Given the description of an element on the screen output the (x, y) to click on. 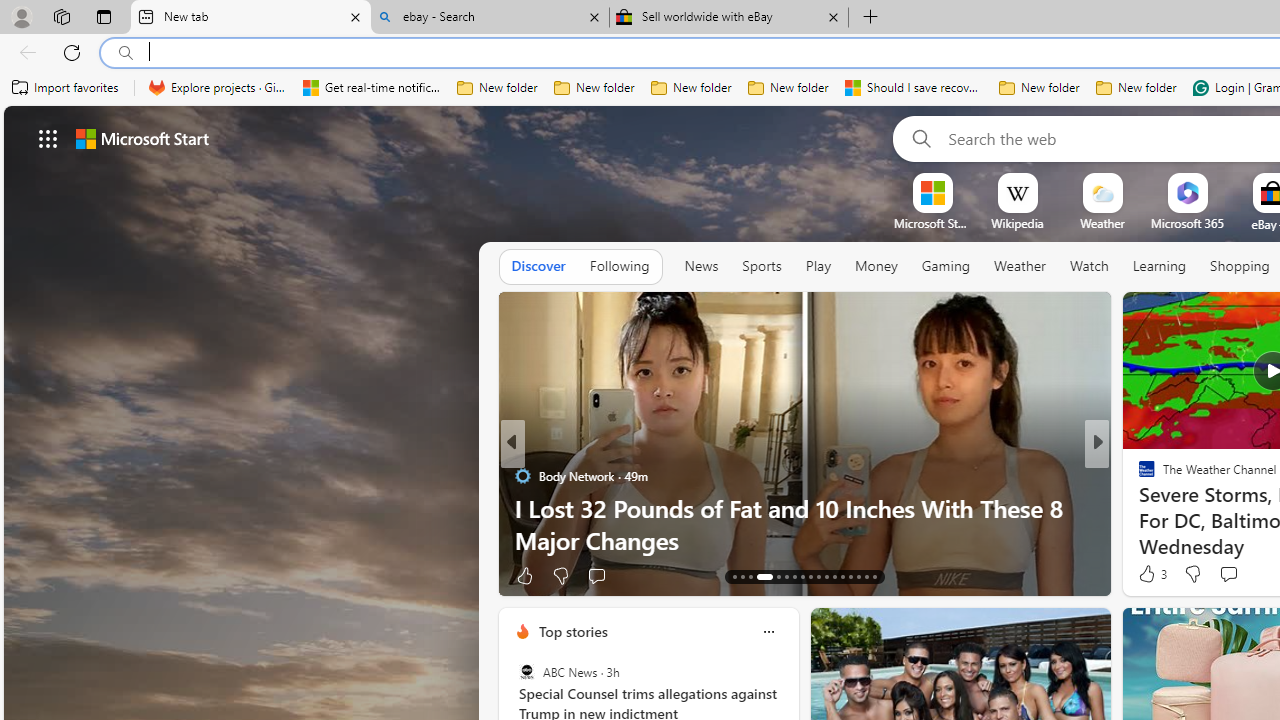
View comments 1 Comment (1234, 575)
AutomationID: tab-23 (825, 576)
Discover (538, 267)
Start the conversation (1227, 574)
353 Like (1151, 574)
Money (876, 267)
News (701, 267)
32 Like (1149, 574)
Simply More Time (1138, 507)
AutomationID: tab-17 (772, 576)
7 Like (1145, 574)
Play (818, 267)
